Given the description of an element on the screen output the (x, y) to click on. 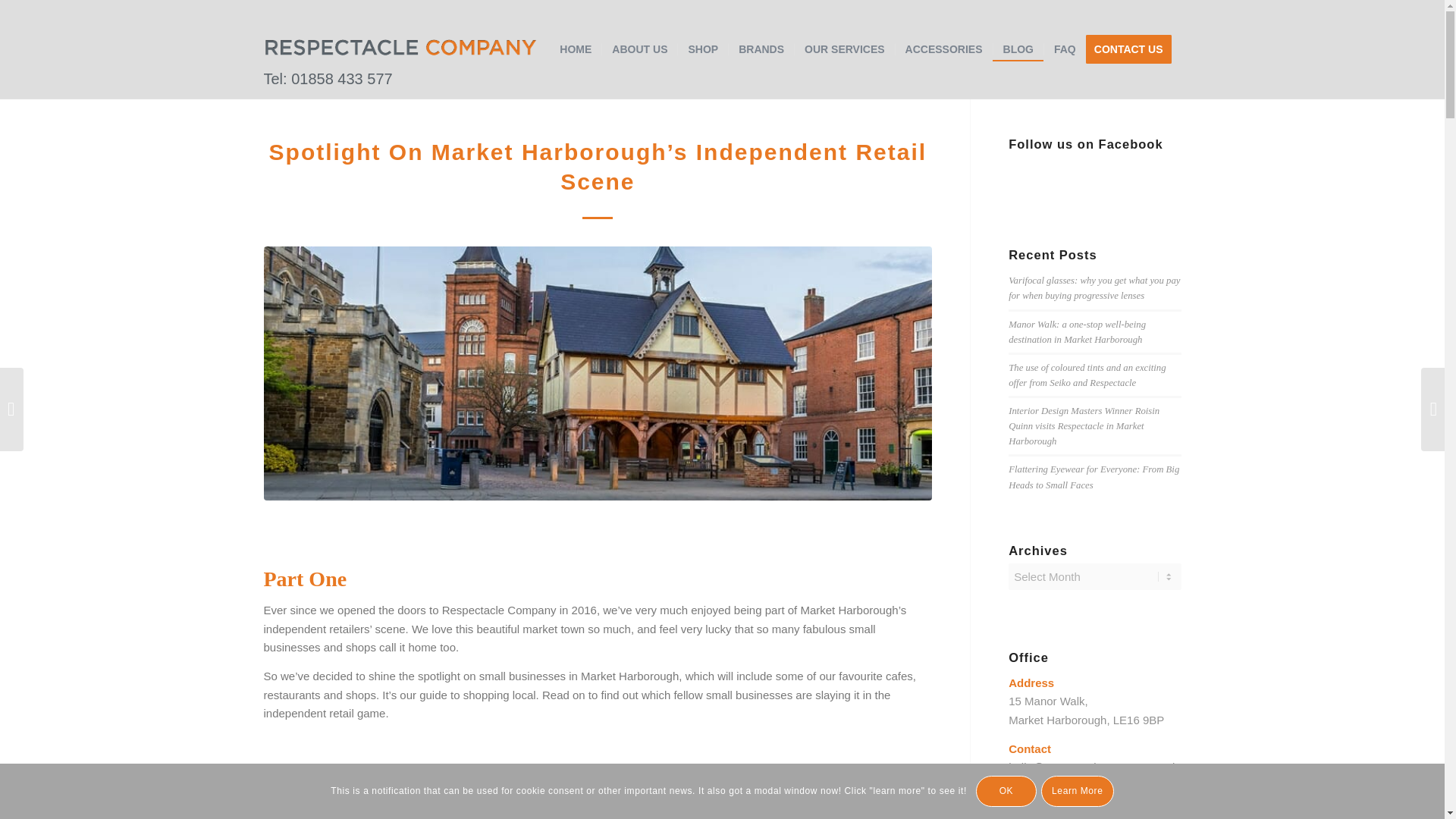
OUR SERVICES (844, 49)
CONTACT US (1133, 49)
ACCESSORIES (943, 49)
Untitled-1 (400, 49)
Tel: 01858 433 577 (400, 49)
Untitled-1 (400, 47)
